Given the description of an element on the screen output the (x, y) to click on. 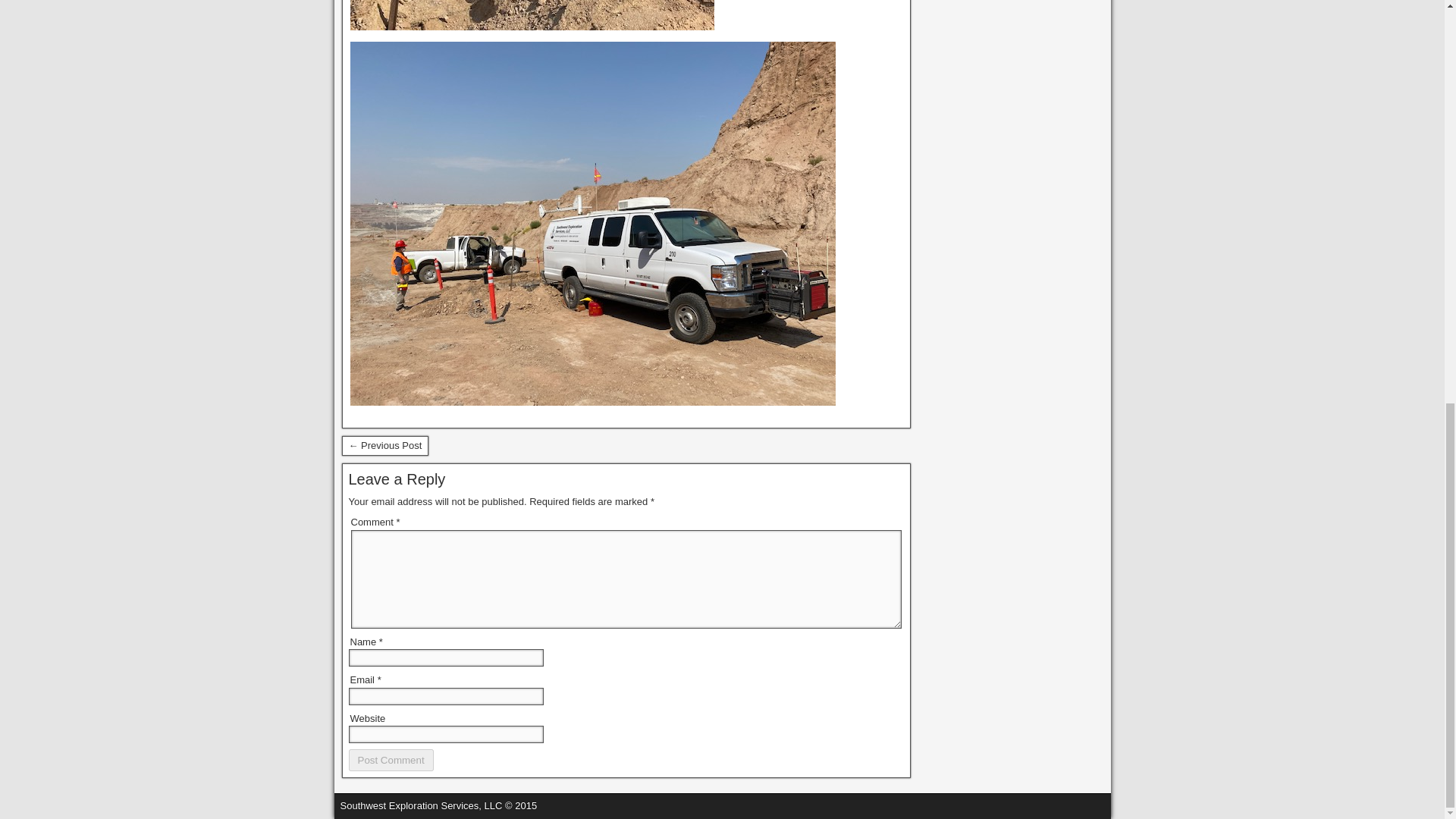
Post Comment (391, 760)
Post Comment (391, 760)
Underground Capable Geophysical Logging Rig (384, 445)
